Given the description of an element on the screen output the (x, y) to click on. 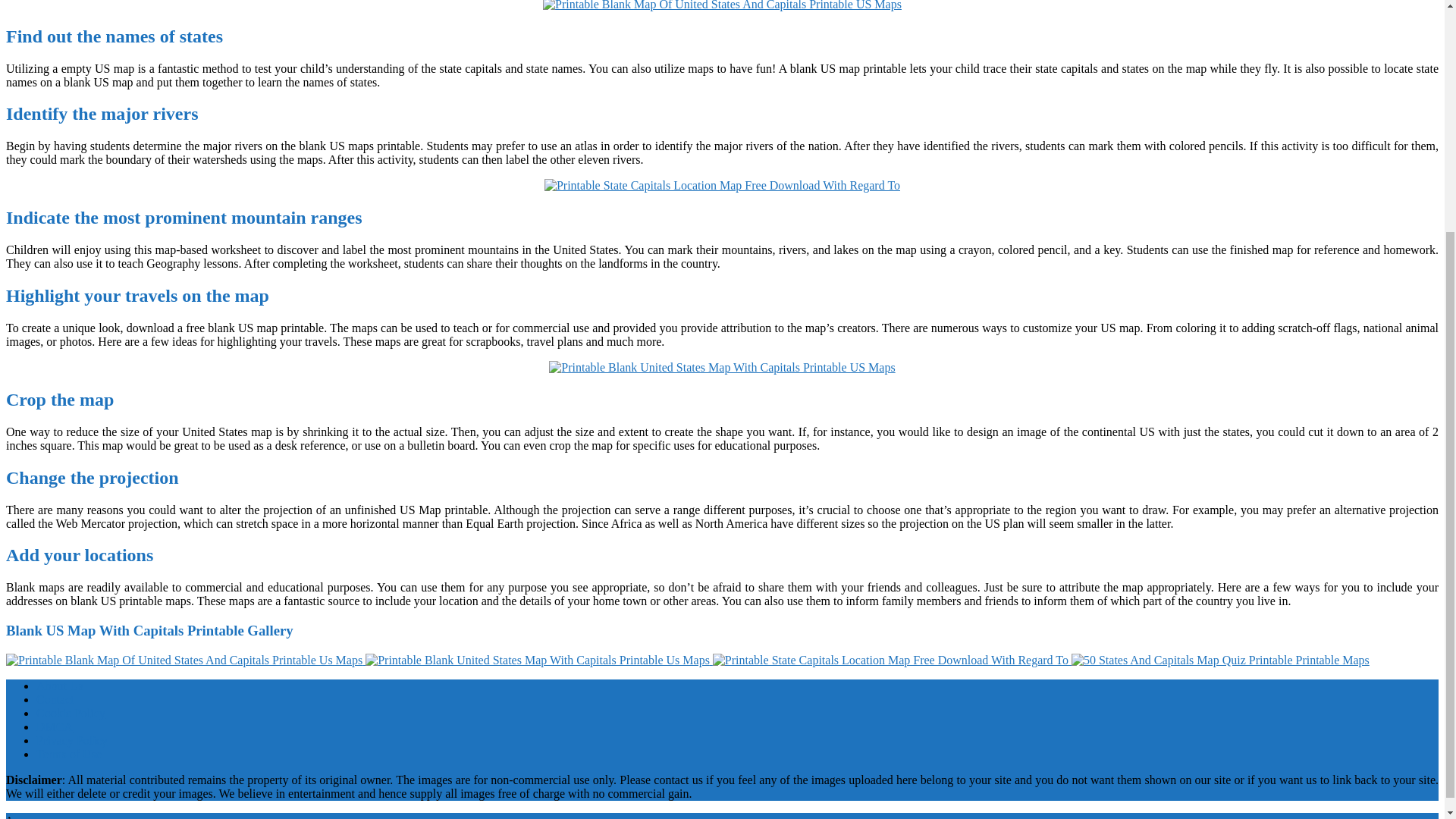
50 States And Capitals Map Quiz Printable Printable Maps (1220, 660)
Contact (55, 698)
50 States And Capitals Map Quiz Printable Printable Maps (1220, 659)
About Us (59, 685)
Cookie Policy (70, 712)
Terms of Use (68, 753)
DMCA (54, 726)
Privacy Policy (71, 739)
